Given the description of an element on the screen output the (x, y) to click on. 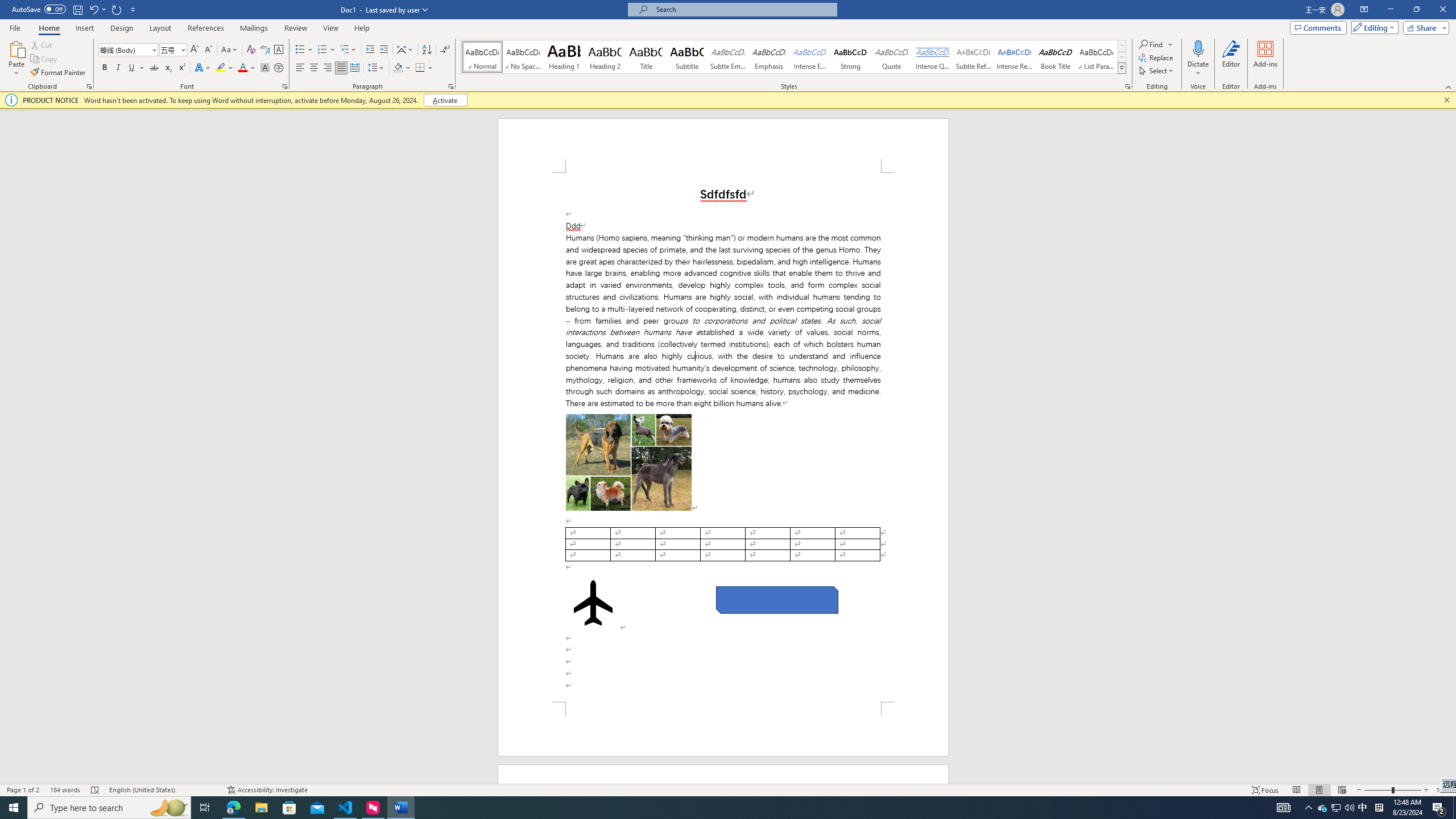
Quote (891, 56)
Repeat Italic (117, 9)
